Given the description of an element on the screen output the (x, y) to click on. 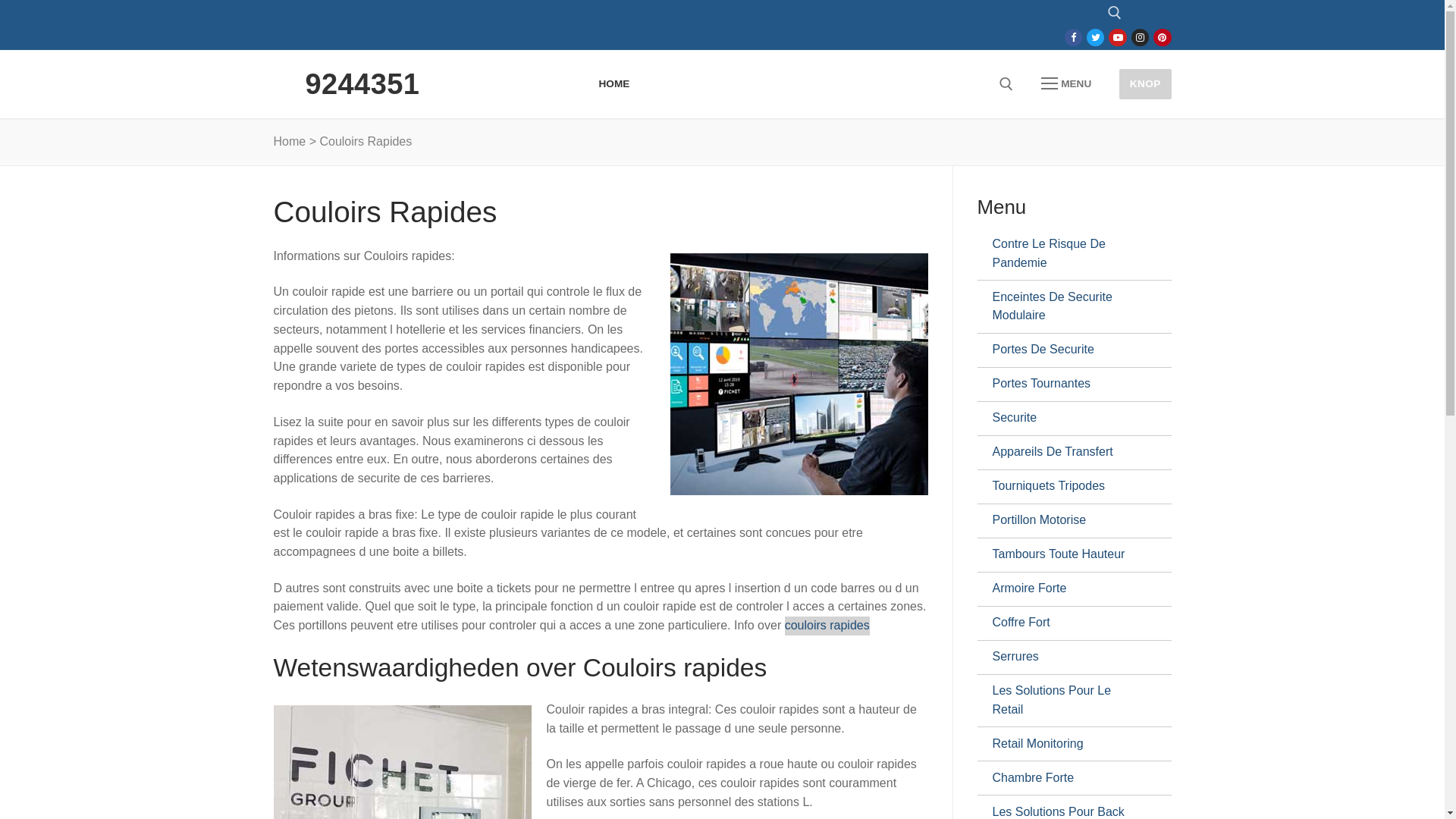
Tourniquets Tripodes Element type: text (1067, 486)
Pinterest Element type: hover (1162, 37)
9244351 Element type: text (361, 83)
Tambours Toute Hauteur Element type: text (1067, 554)
Retail Monitoring Element type: text (1067, 743)
Contre Le Risque De Pandemie Element type: text (1067, 253)
HOME Element type: text (613, 83)
Youtube Element type: hover (1118, 37)
Serrures Element type: text (1067, 657)
Portes Tournantes Element type: text (1067, 384)
Armoire Forte Element type: text (1067, 588)
MENU Element type: text (1066, 84)
Portillon Motorise Element type: text (1067, 520)
Appareils De Transfert Element type: text (1067, 452)
Facebook Element type: hover (1073, 37)
Portes De Securite Element type: text (1067, 350)
KNOP Element type: text (1144, 83)
Securite Element type: text (1067, 418)
Twitter Element type: hover (1095, 37)
Chambre Forte Element type: text (1067, 777)
Instagram Element type: hover (1140, 37)
Coffre Fort Element type: text (1067, 623)
Enceintes De Securite Modulaire Element type: text (1067, 306)
couloirs rapides Element type: text (826, 625)
Les Solutions Pour Le Retail Element type: text (1067, 700)
